Given the description of an element on the screen output the (x, y) to click on. 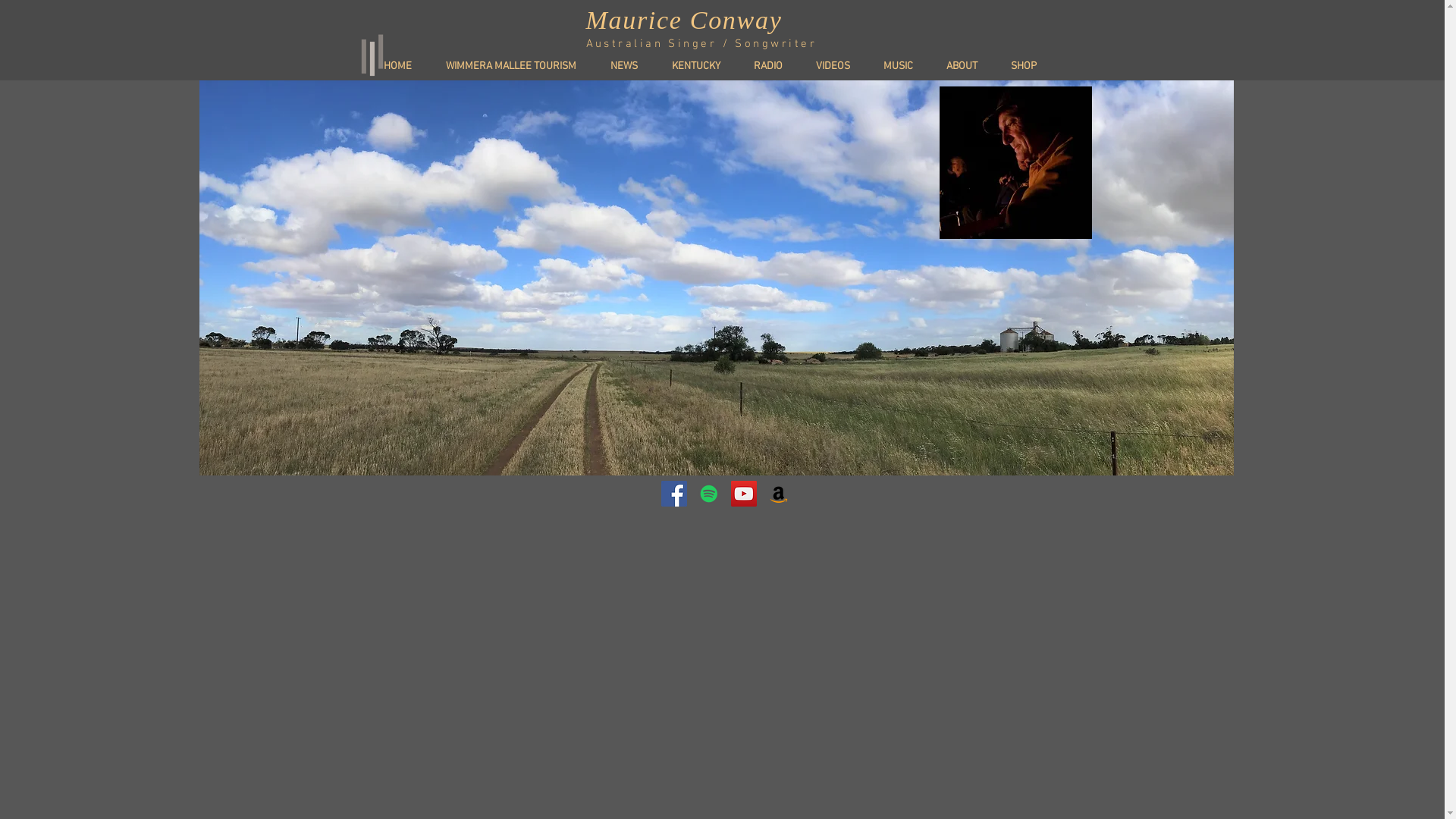
RADIO Element type: text (774, 66)
HOME Element type: text (404, 66)
SHOP Element type: text (1030, 66)
Maurice Conway Element type: text (683, 20)
MUSIC Element type: text (904, 66)
View of Goyura and the silos Element type: hover (715, 277)
NEWS Element type: text (631, 66)
23-7-18-3115.jpg Element type: hover (1014, 162)
ABOUT Element type: text (967, 66)
WIMMERA MALLEE TOURISM Element type: text (517, 66)
VIDEOS Element type: text (838, 66)
KENTUCKY Element type: text (702, 66)
